Given the description of an element on the screen output the (x, y) to click on. 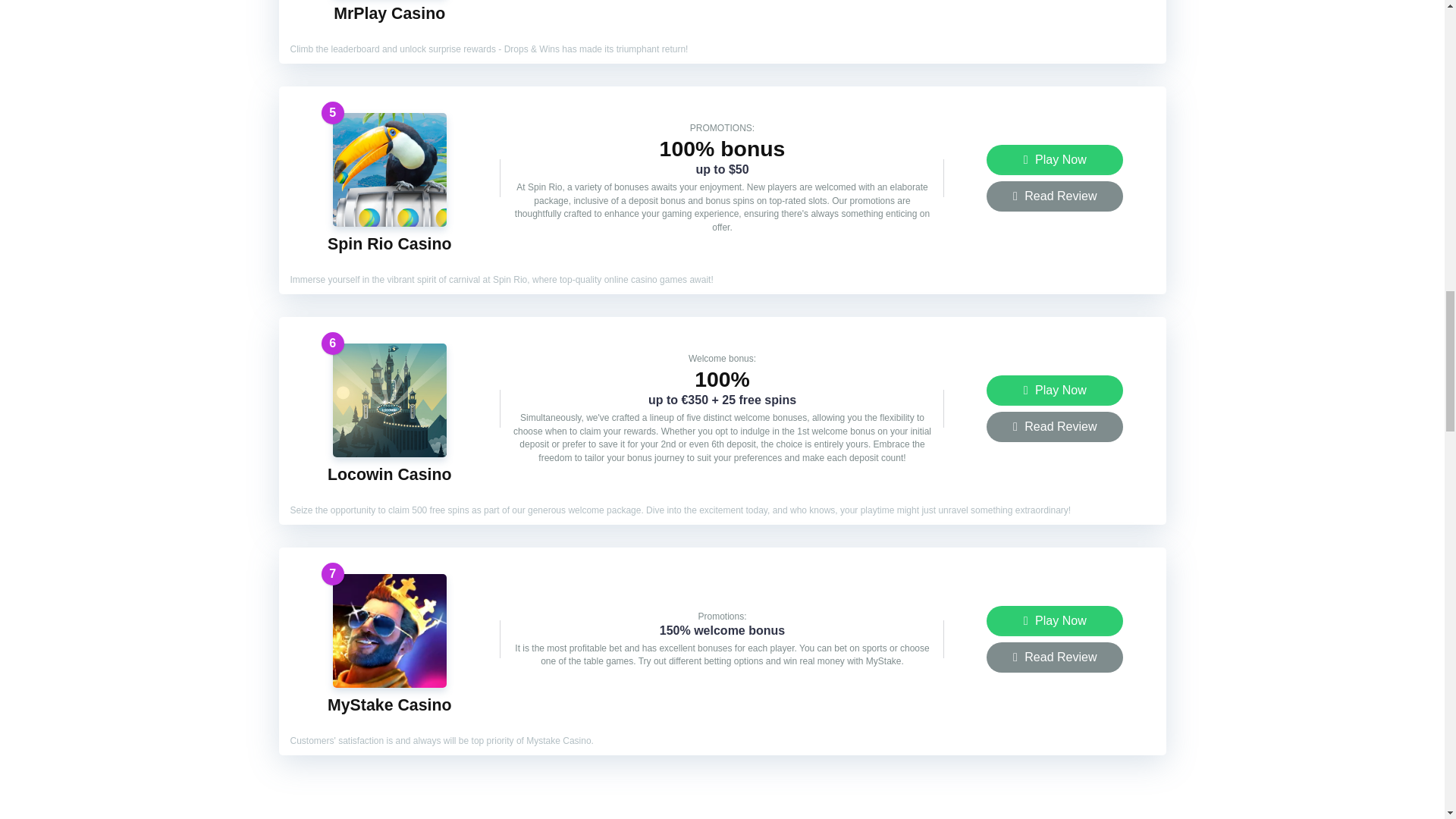
Locowin Casino (389, 475)
Play Now (1054, 159)
MrPlay Casino (389, 13)
Read Review (1054, 426)
Play Now (1054, 390)
MrPlay Casino (389, 13)
Play Now (1054, 621)
Spin Rio Casino (389, 244)
Read Review (1054, 195)
MyStake Casino (389, 705)
Read Review (1054, 657)
